Given the description of an element on the screen output the (x, y) to click on. 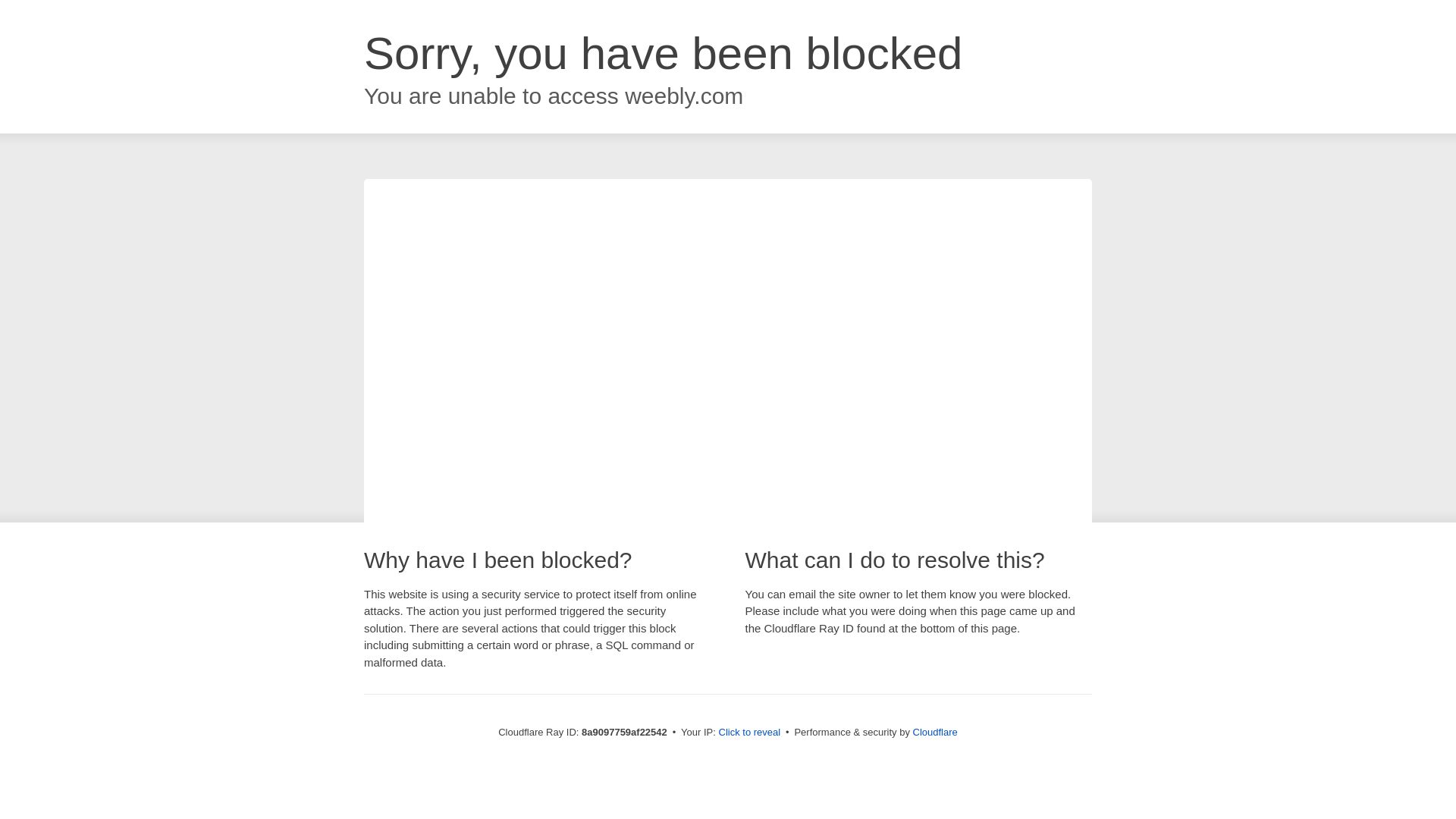
Cloudflare (935, 731)
Click to reveal (749, 732)
